Given the description of an element on the screen output the (x, y) to click on. 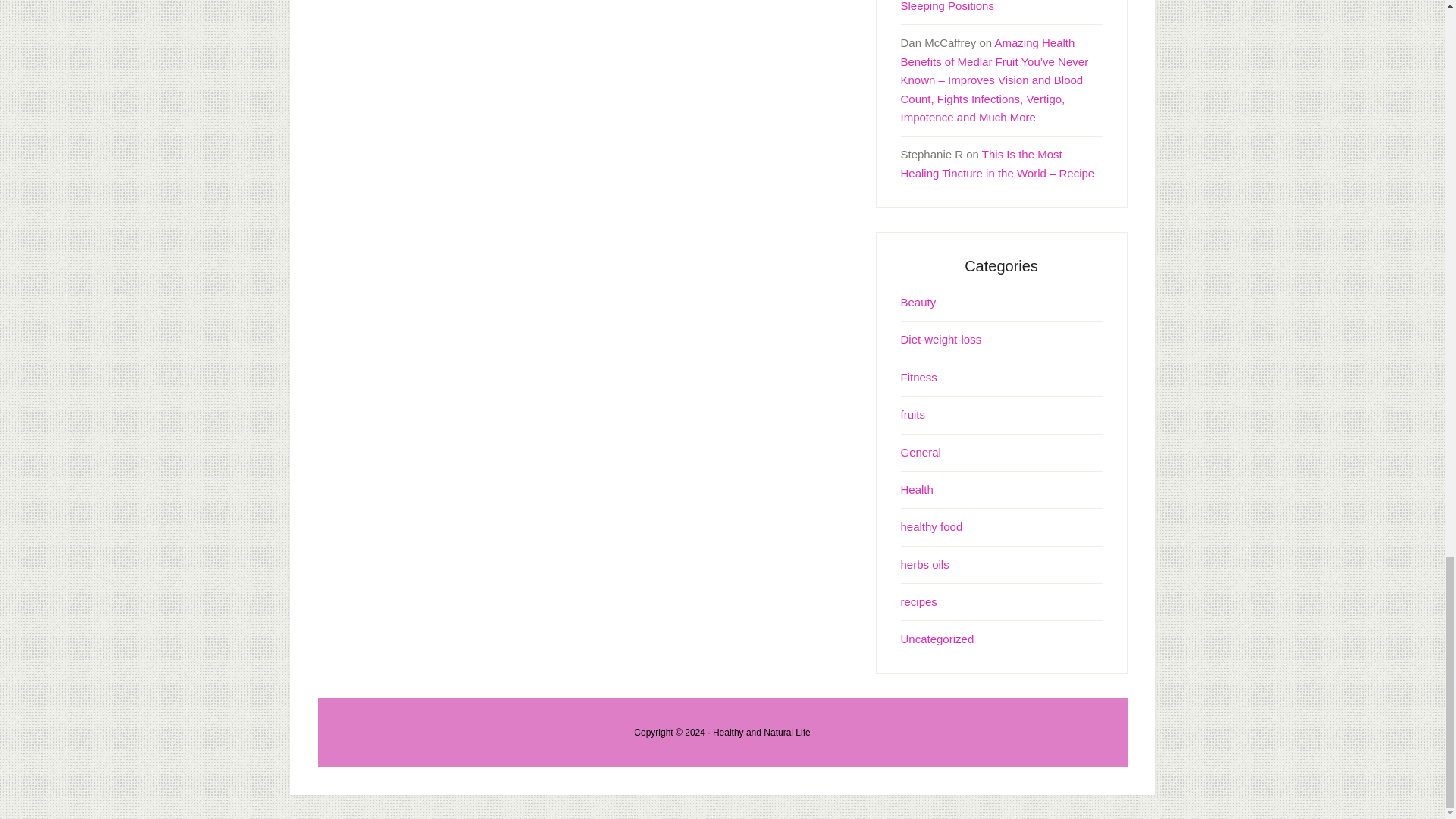
Beauty (918, 301)
Diet-weight-loss (941, 338)
Fitness (919, 377)
